Given the description of an element on the screen output the (x, y) to click on. 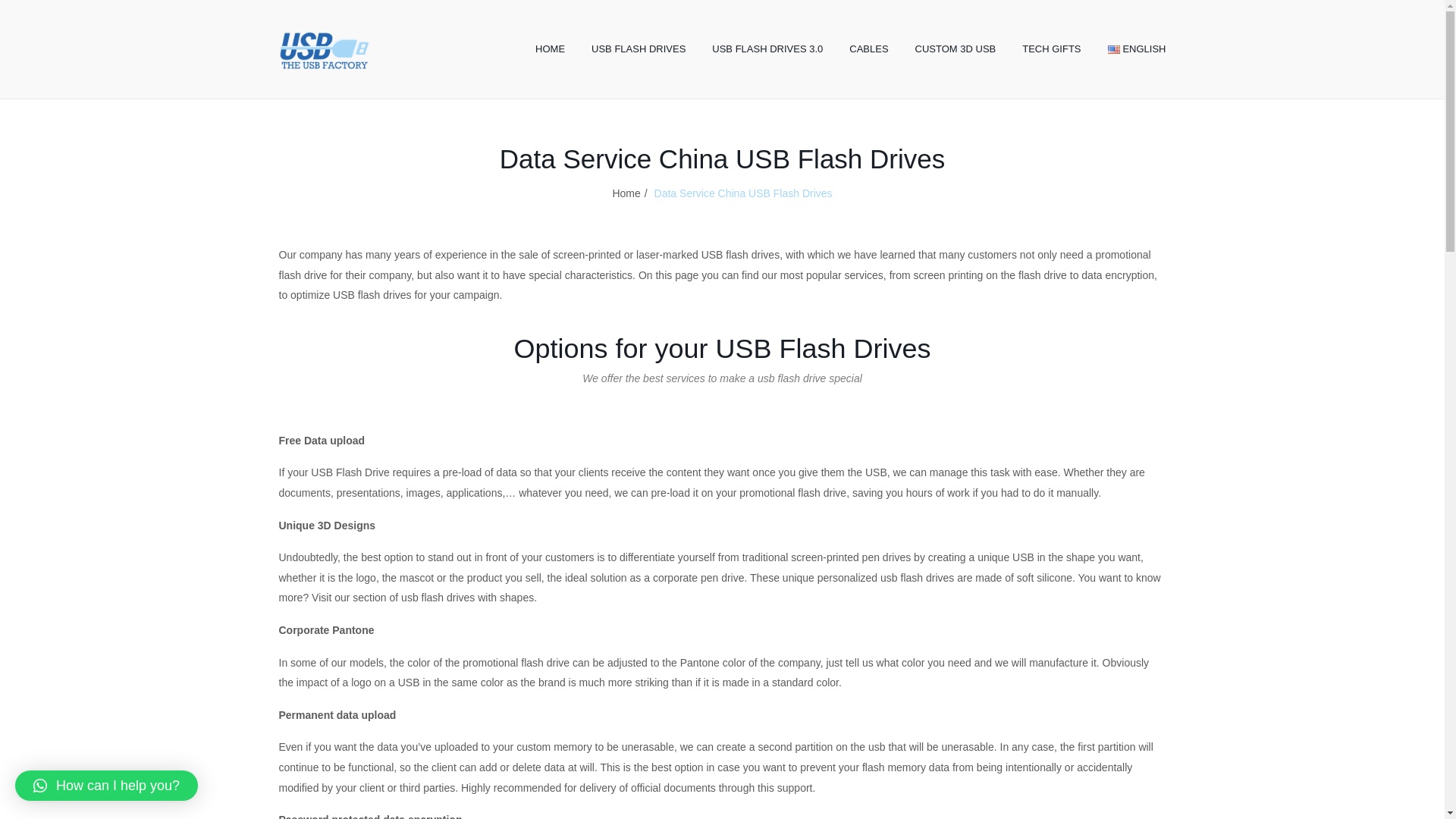
USB FLASH DRIVES (638, 49)
The USB Factory In China (324, 48)
USB FLASH DRIVES 3.0 (766, 49)
